Given the description of an element on the screen output the (x, y) to click on. 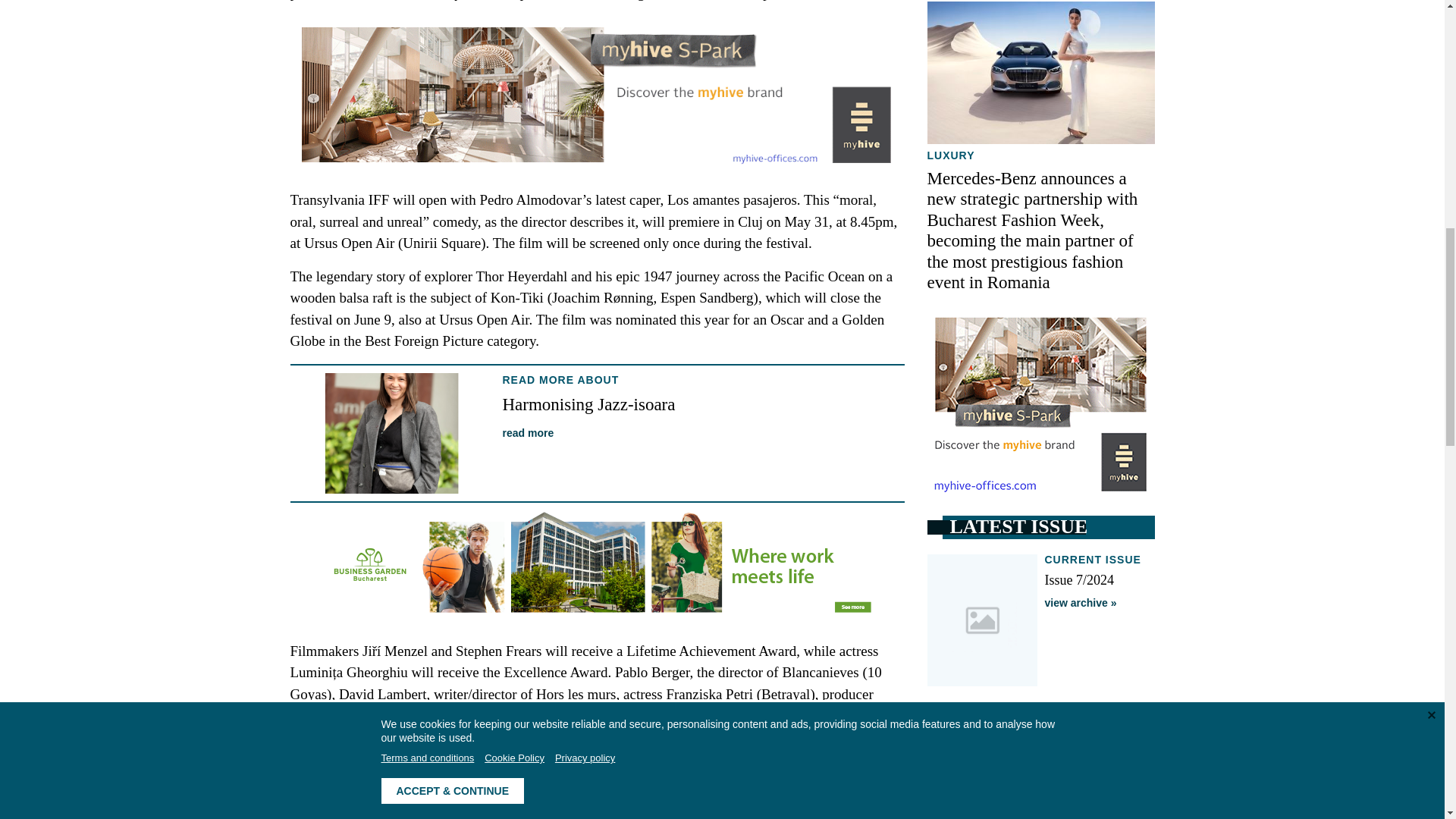
read more (527, 432)
here.  (601, 812)
Harmonising Jazz-isoara (588, 404)
